Given the description of an element on the screen output the (x, y) to click on. 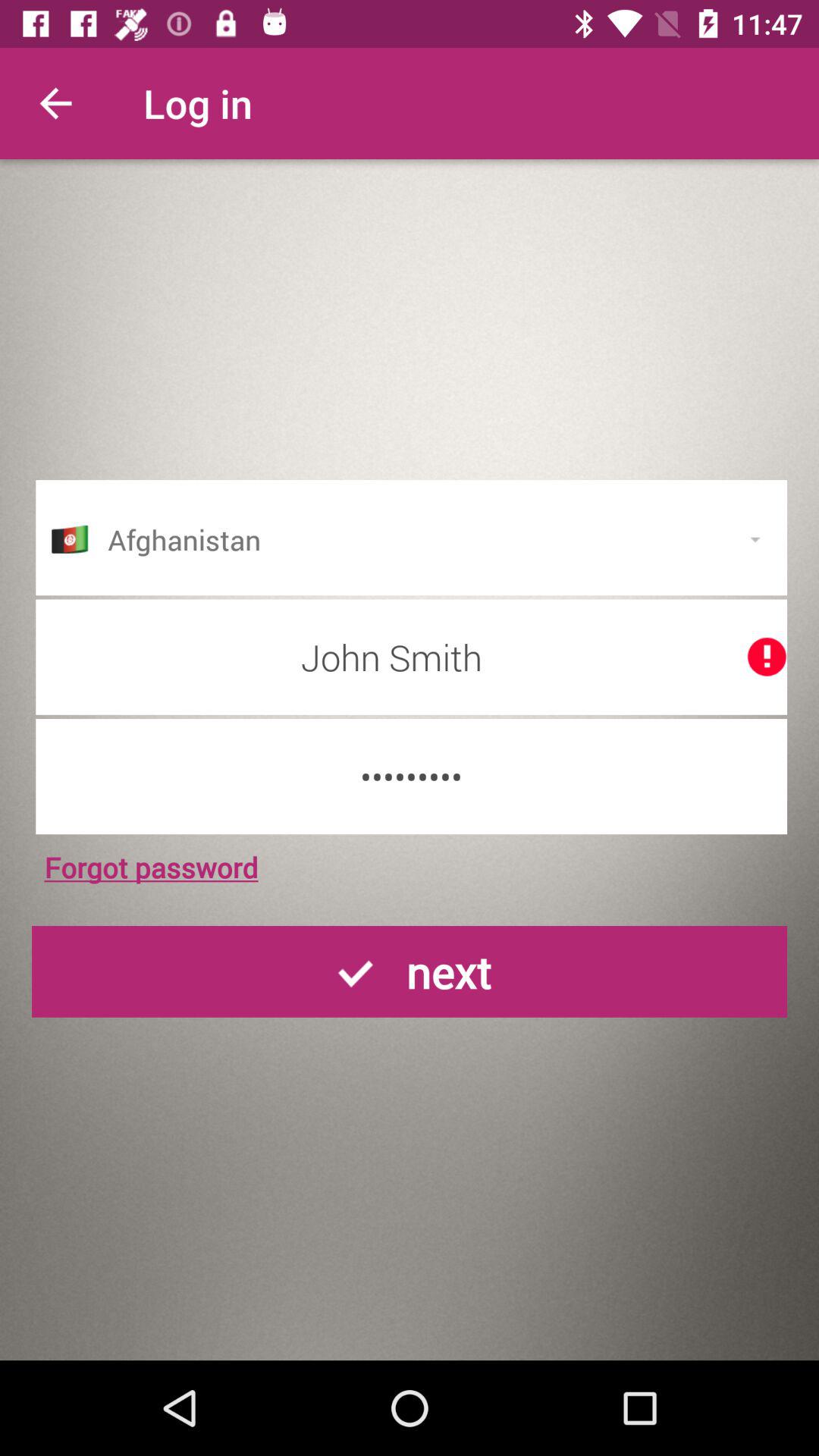
tap forgot password (151, 867)
